Given the description of an element on the screen output the (x, y) to click on. 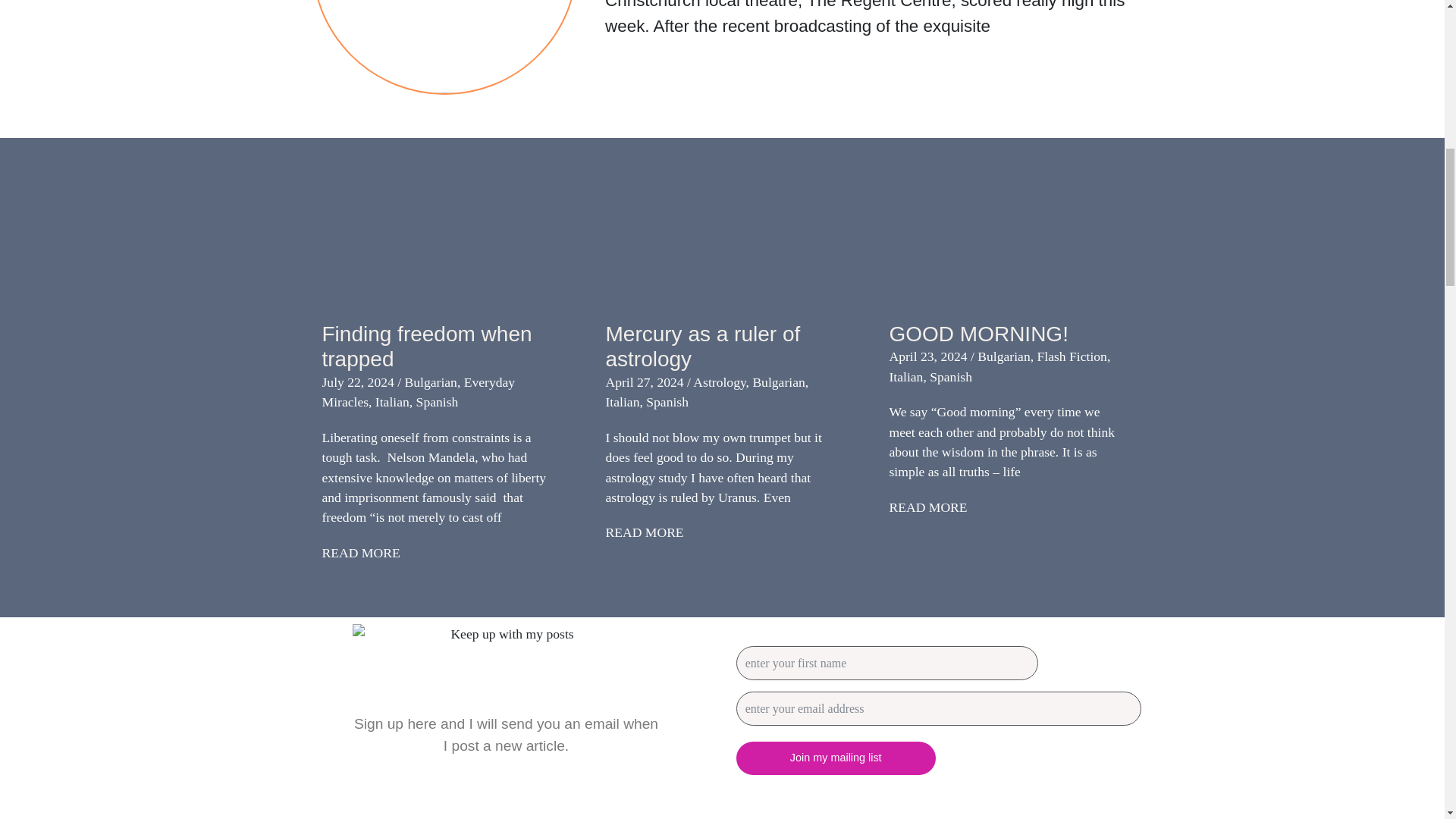
July 22, 2024 (357, 381)
Mercury as a ruler of astrology (702, 346)
Finding freedom when trapped (426, 346)
April 27, 2024 (643, 381)
Everyday Miracles (418, 391)
READ MORE (359, 552)
Italian (392, 401)
Spanish (437, 401)
Bulgarian (430, 381)
